Given the description of an element on the screen output the (x, y) to click on. 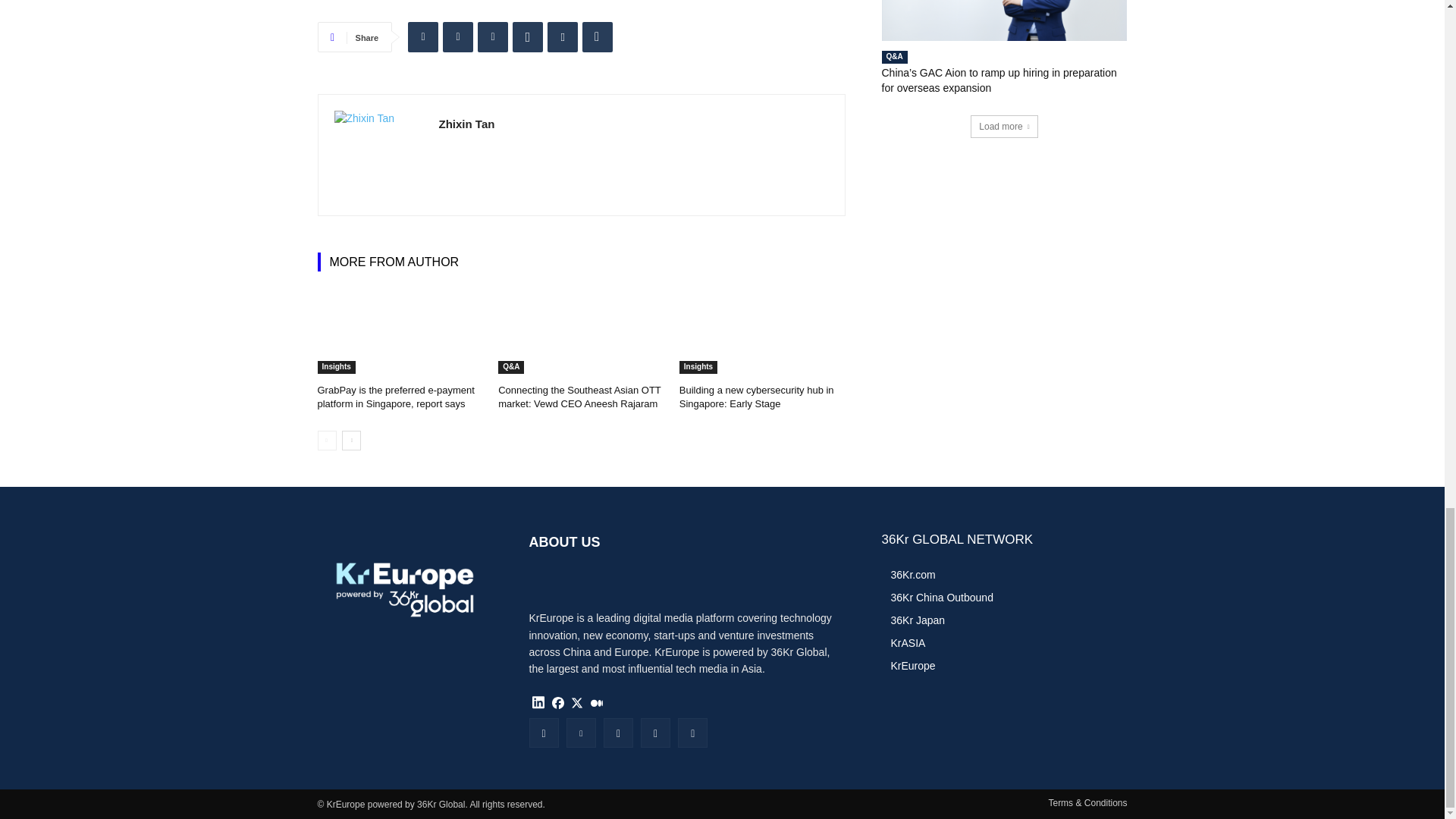
Copy URL (597, 37)
Email (562, 37)
Twitter (457, 37)
Linkedin (422, 37)
Facebook (492, 37)
WhatsApp (527, 37)
Zhixin Tan (377, 154)
